Given the description of an element on the screen output the (x, y) to click on. 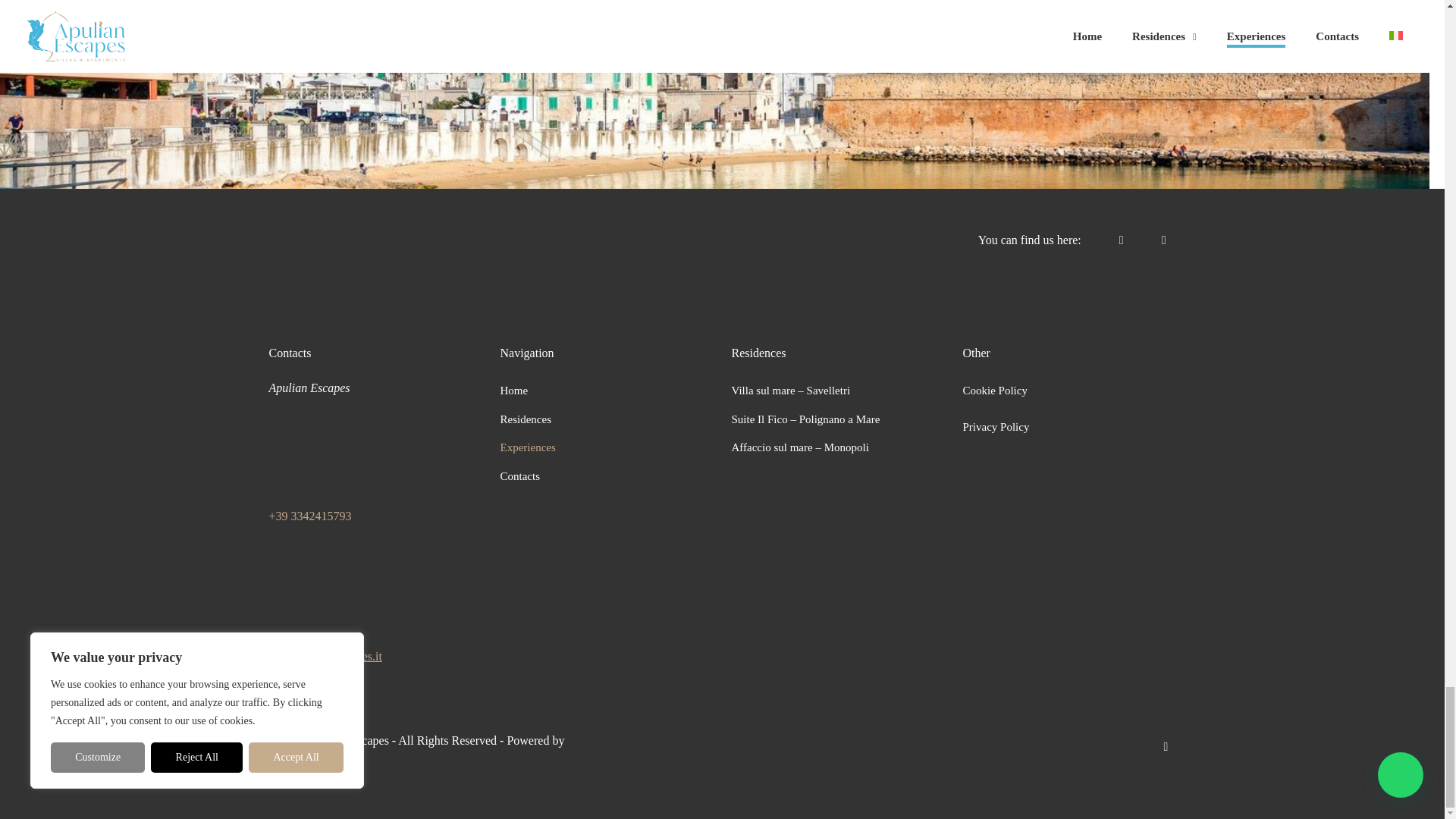
CONTACT US (707, 2)
